Given the description of an element on the screen output the (x, y) to click on. 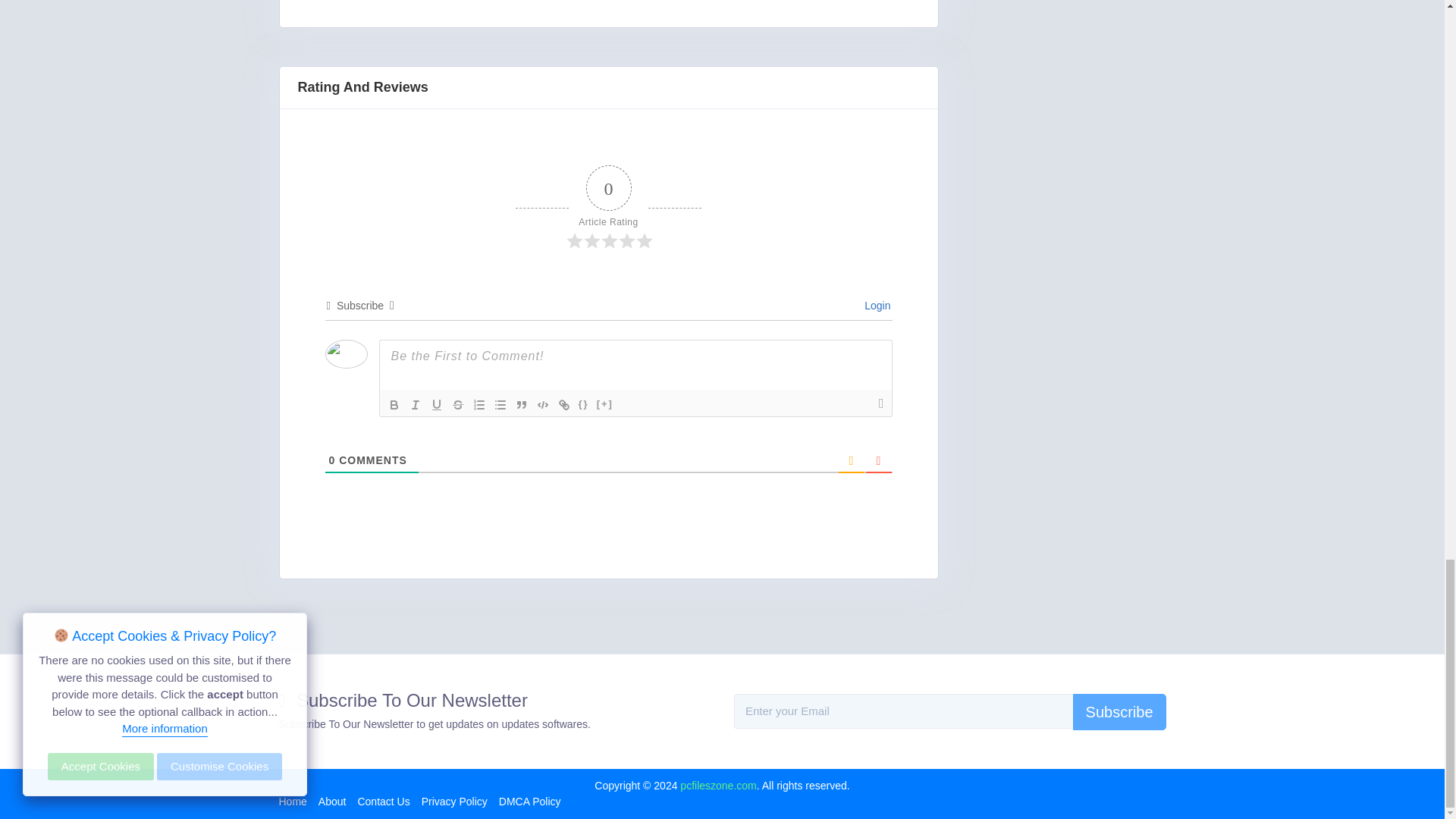
Italic (415, 404)
Blockquote (521, 404)
Spoiler (604, 404)
Unordered List (500, 404)
Link (564, 404)
Source Code (583, 404)
Underline (436, 404)
Strike (457, 404)
Bold (394, 404)
Ordered List (478, 404)
Code Block (542, 404)
